Given the description of an element on the screen output the (x, y) to click on. 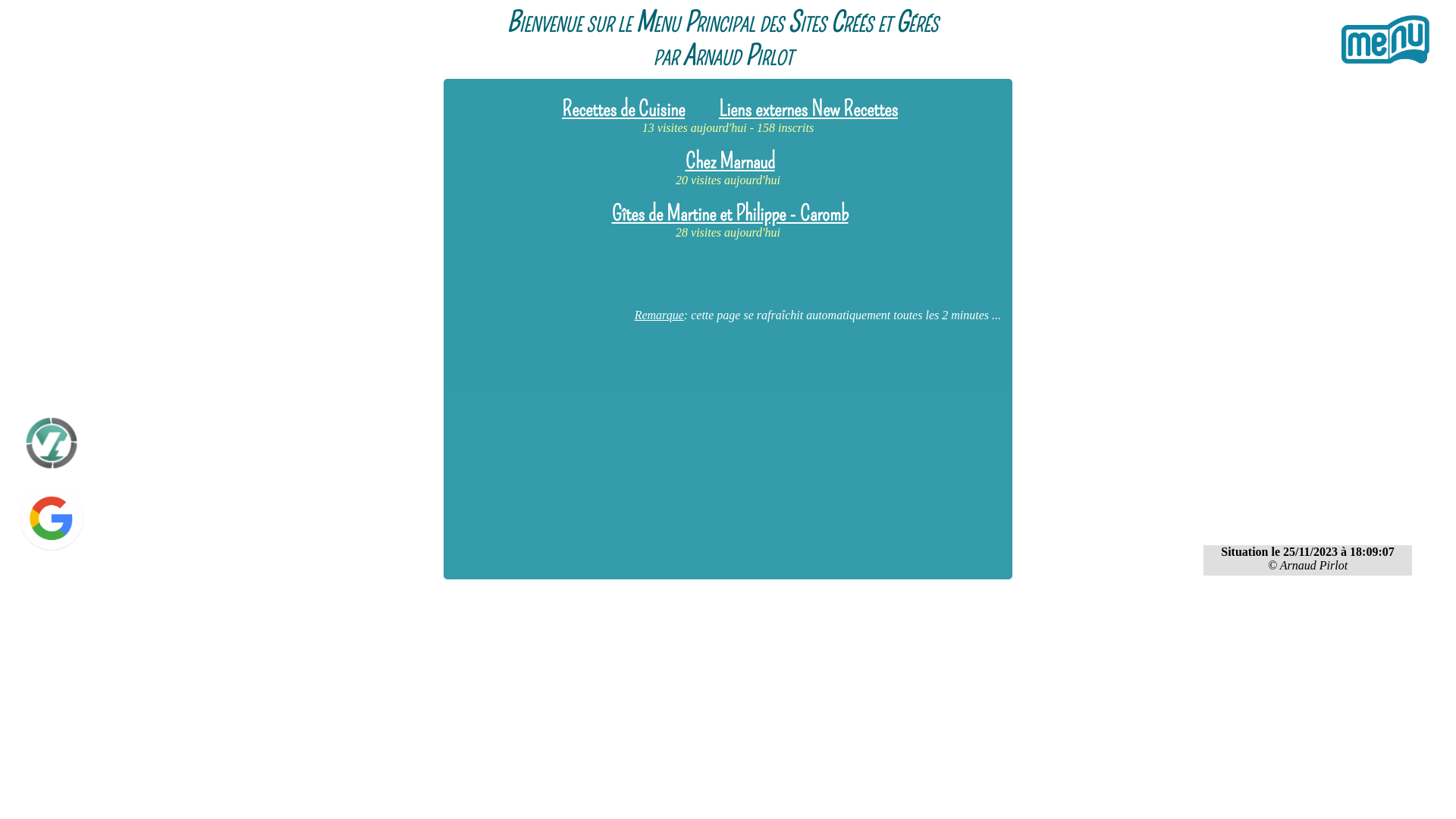
Espace Client - OVH Element type: hover (51, 442)
Espace Client - OVH Element type: hover (1384, 39)
Liens externes New Recettes Element type: text (807, 108)
Google Element type: hover (51, 520)
Chez Marnaud Element type: text (730, 160)
Recettes de Cuisine Element type: text (622, 108)
